Given the description of an element on the screen output the (x, y) to click on. 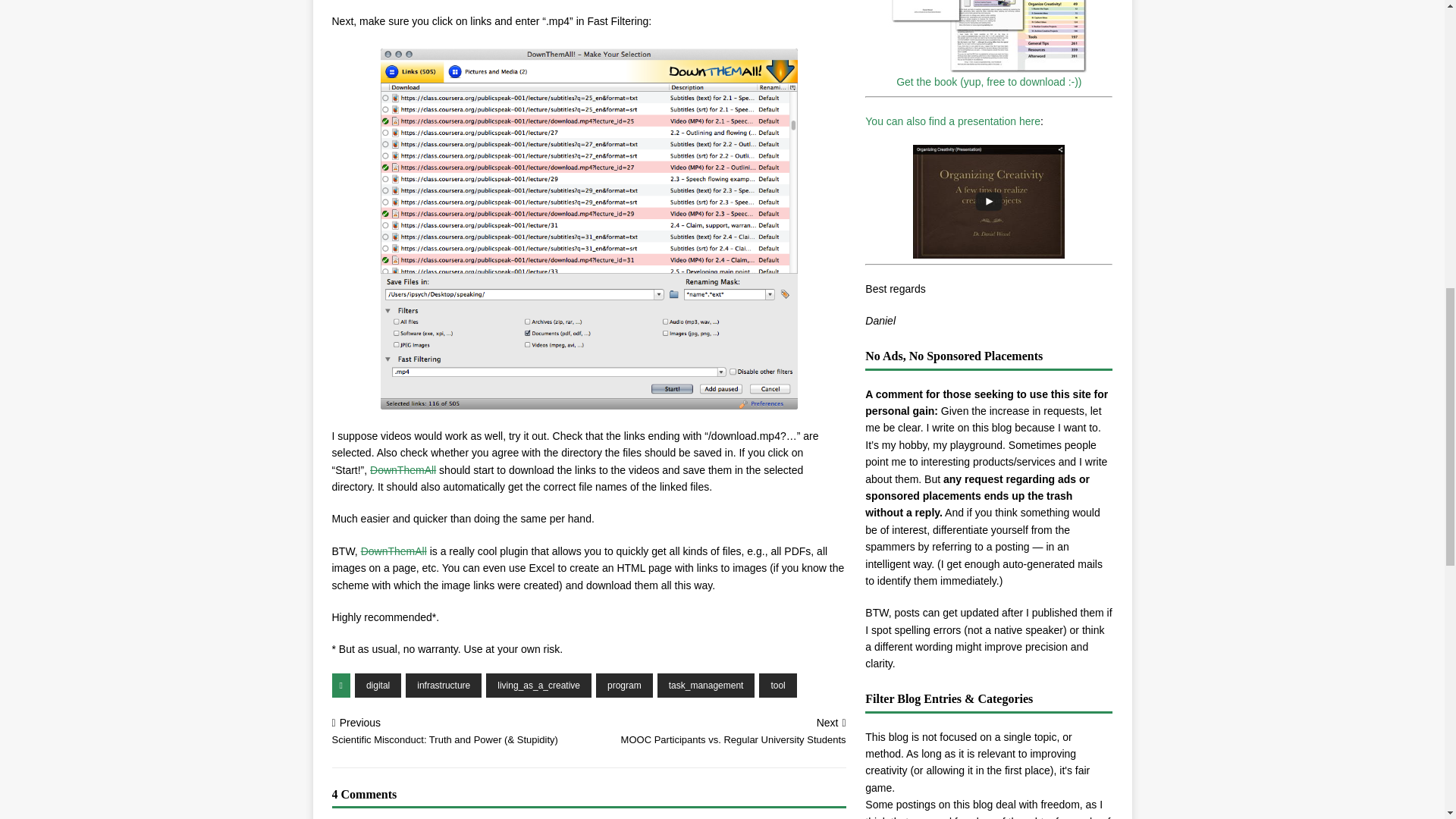
digital (378, 685)
infrastructure (443, 685)
DownThemAll (393, 551)
DownThemAll (402, 469)
program (623, 685)
tool (777, 685)
